Given the description of an element on the screen output the (x, y) to click on. 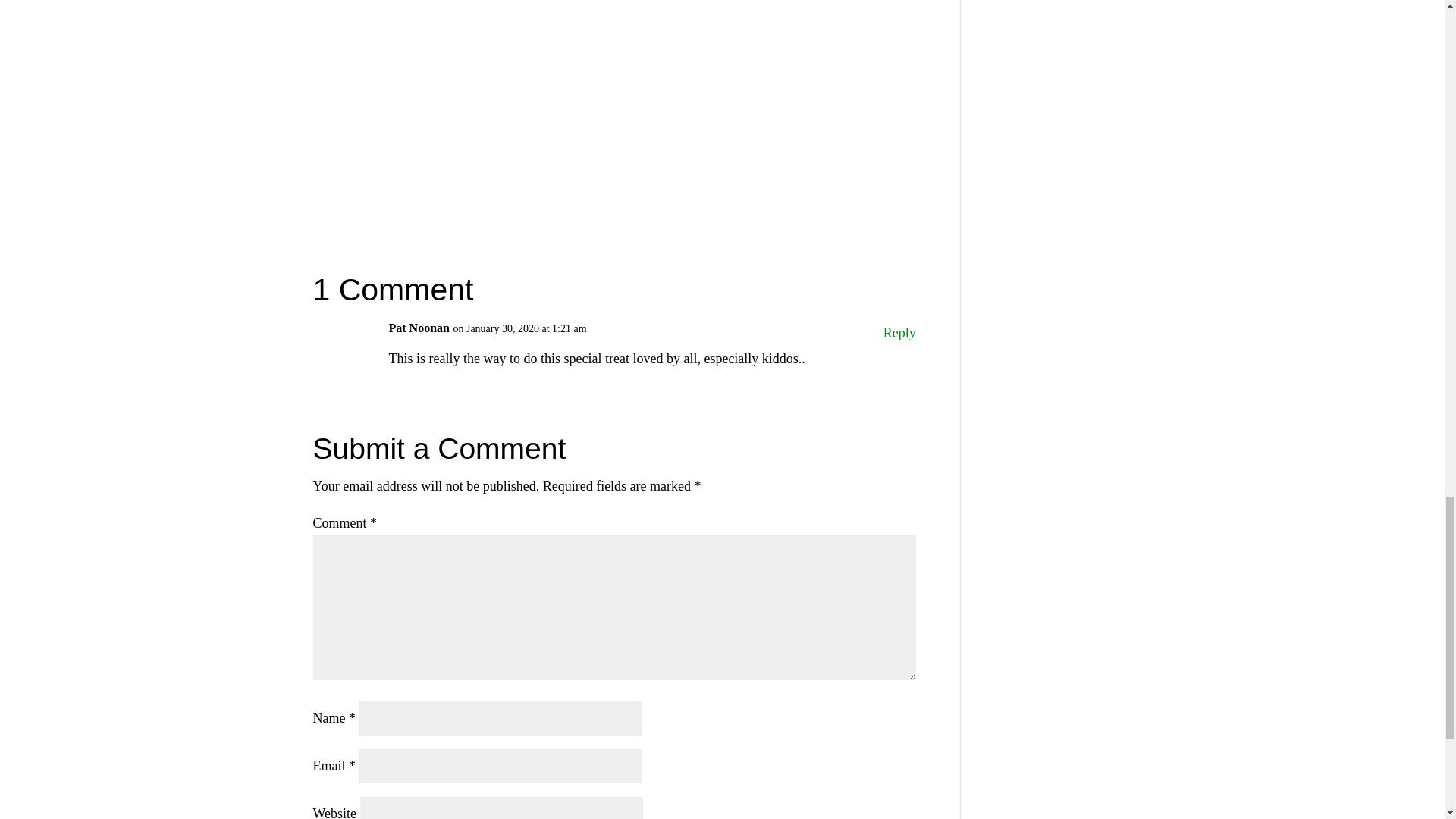
Reply (899, 332)
